Given the description of an element on the screen output the (x, y) to click on. 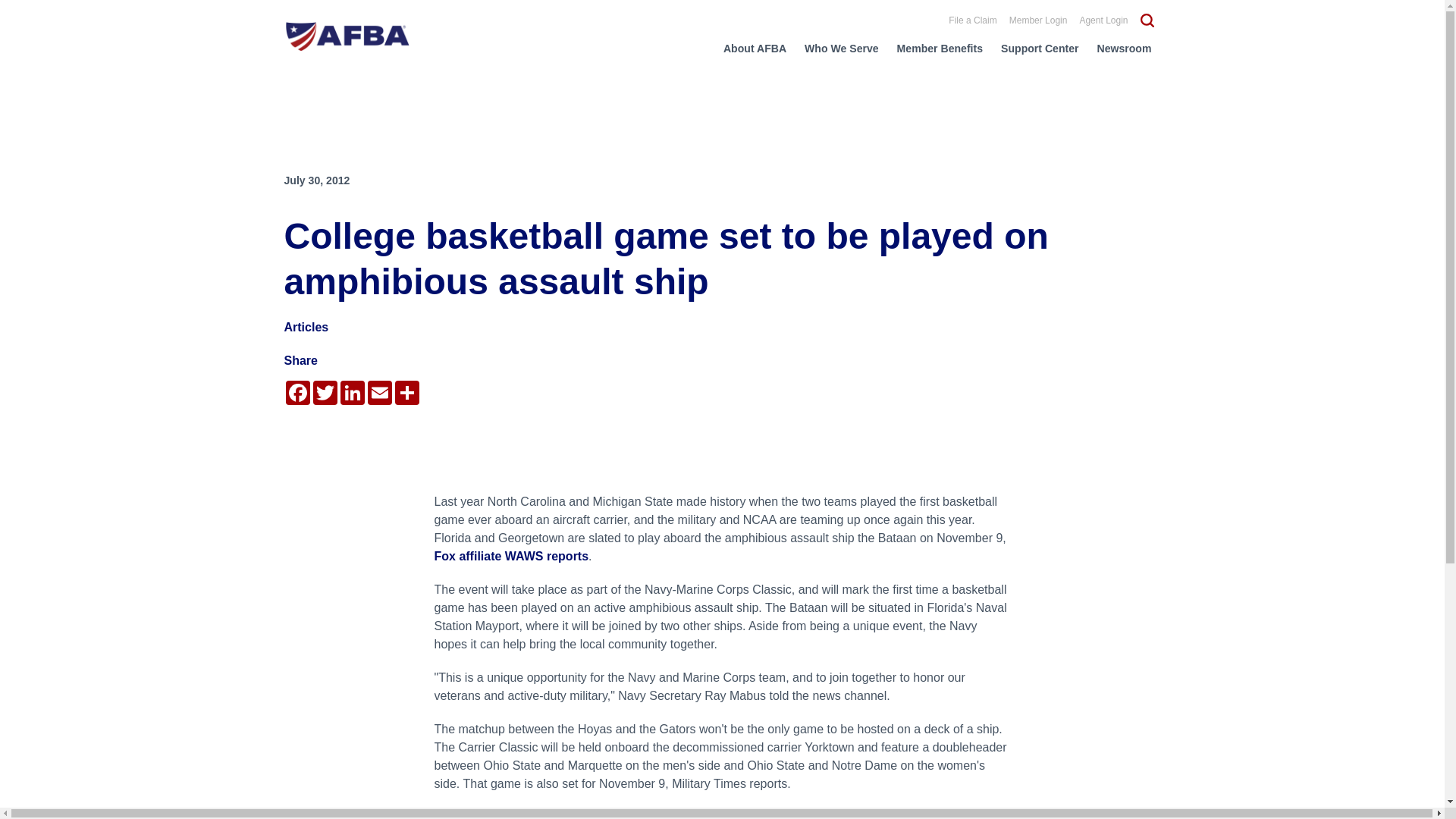
File a Claim (972, 20)
